Given the description of an element on the screen output the (x, y) to click on. 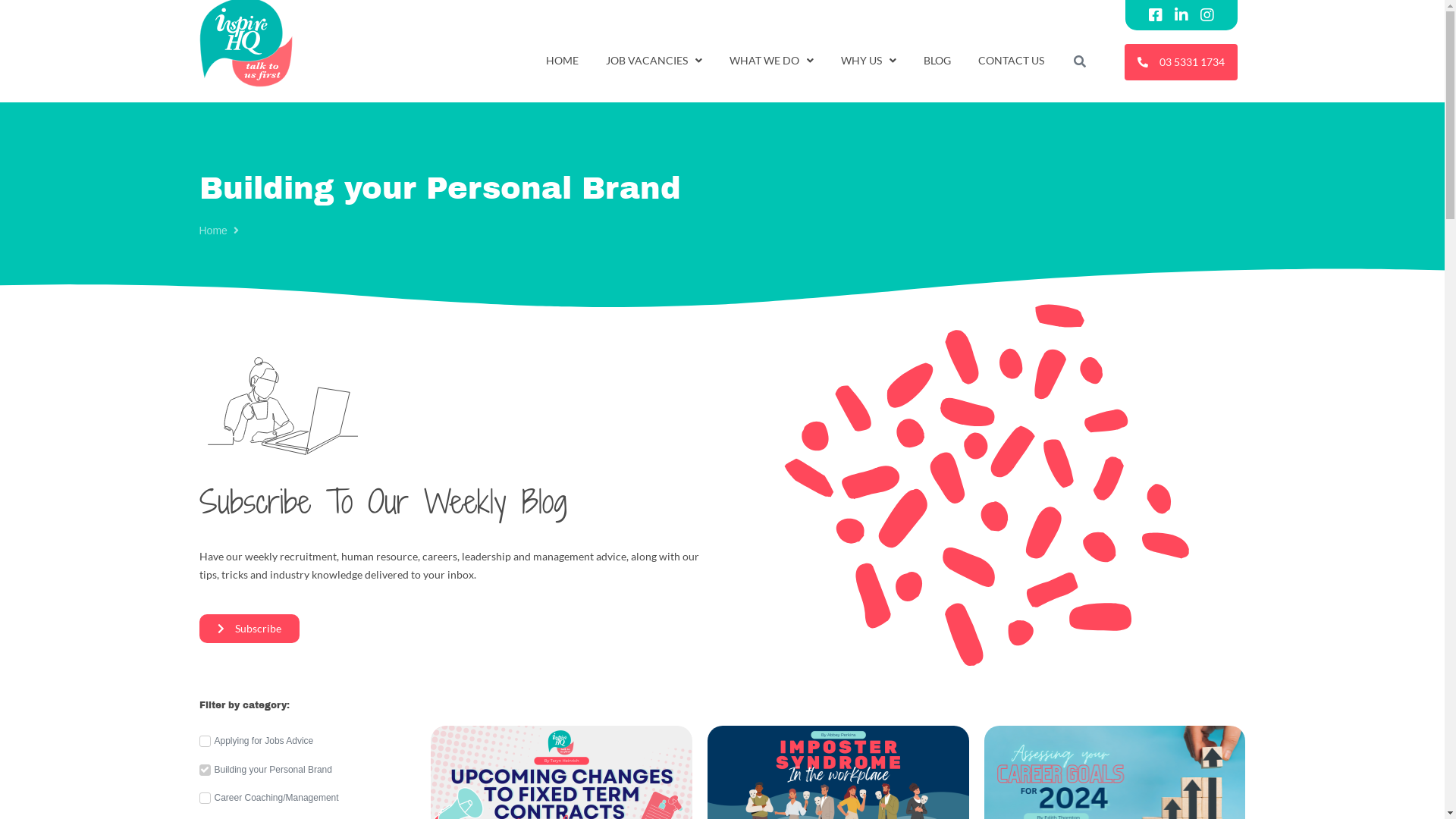
CONTACT US Element type: text (1011, 59)
Home Element type: text (212, 231)
HOME Element type: text (562, 59)
WHY US Element type: text (868, 59)
BLOG Element type: text (936, 59)
WHAT WE DO Element type: text (771, 59)
03 5331 1734 Element type: text (1180, 61)
JOB VACANCIES Element type: text (654, 59)
Subscribe Element type: text (248, 628)
